Given the description of an element on the screen output the (x, y) to click on. 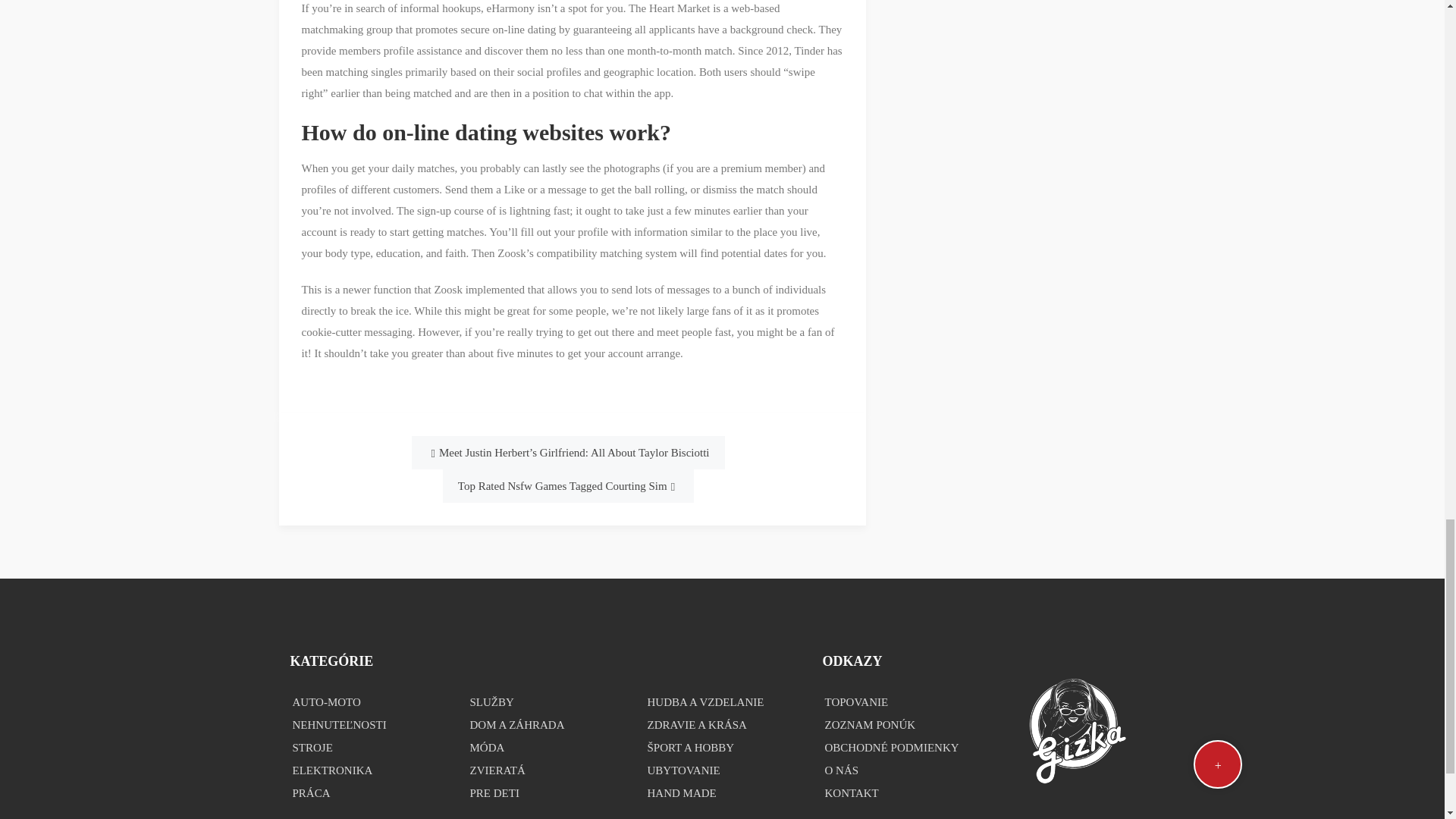
HUDBA A VZDELANIE (722, 702)
KONTAKT (899, 793)
STROJE (366, 747)
HAND MADE (722, 793)
ELEKTRONIKA (366, 770)
TOPOVANIE (899, 702)
AUTO-MOTO (366, 702)
UBYTOVANIE (722, 770)
Top Rated Nsfw Games Tagged Courting Sim (568, 485)
PRE DETI (544, 793)
